Given the description of an element on the screen output the (x, y) to click on. 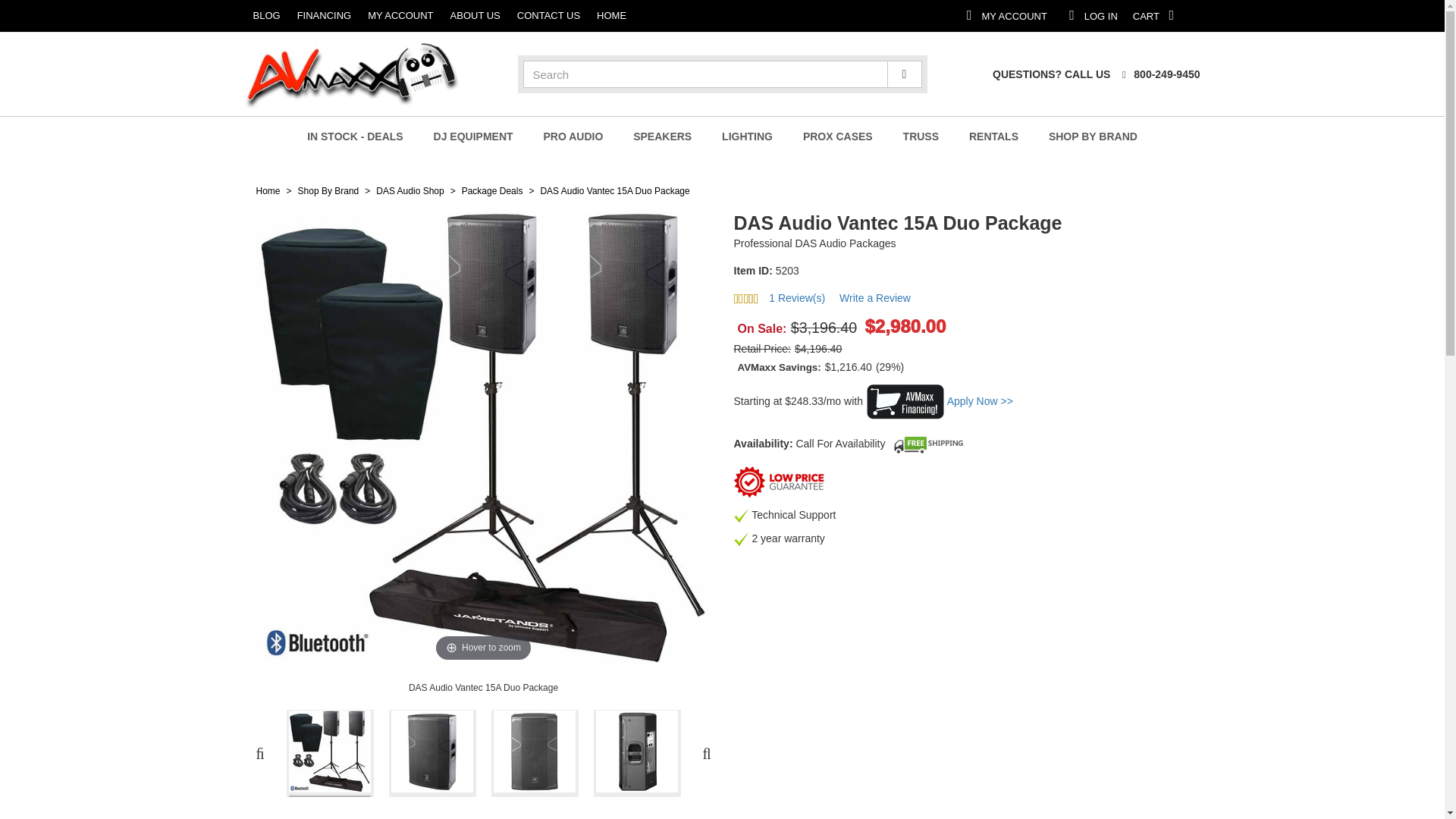
DAS Audio Vantec 15A Duo Package  (330, 753)
FINANCING (121, 15)
HOME (490, 15)
DJ EQUIPMENT (1176, 15)
CONTACT US (473, 136)
IN STOCK - DEALS (407, 15)
800-249-9450 (355, 136)
DAS Audio Vantec 15A Duo Package  (1157, 74)
BLOG (1259, 15)
